Given the description of an element on the screen output the (x, y) to click on. 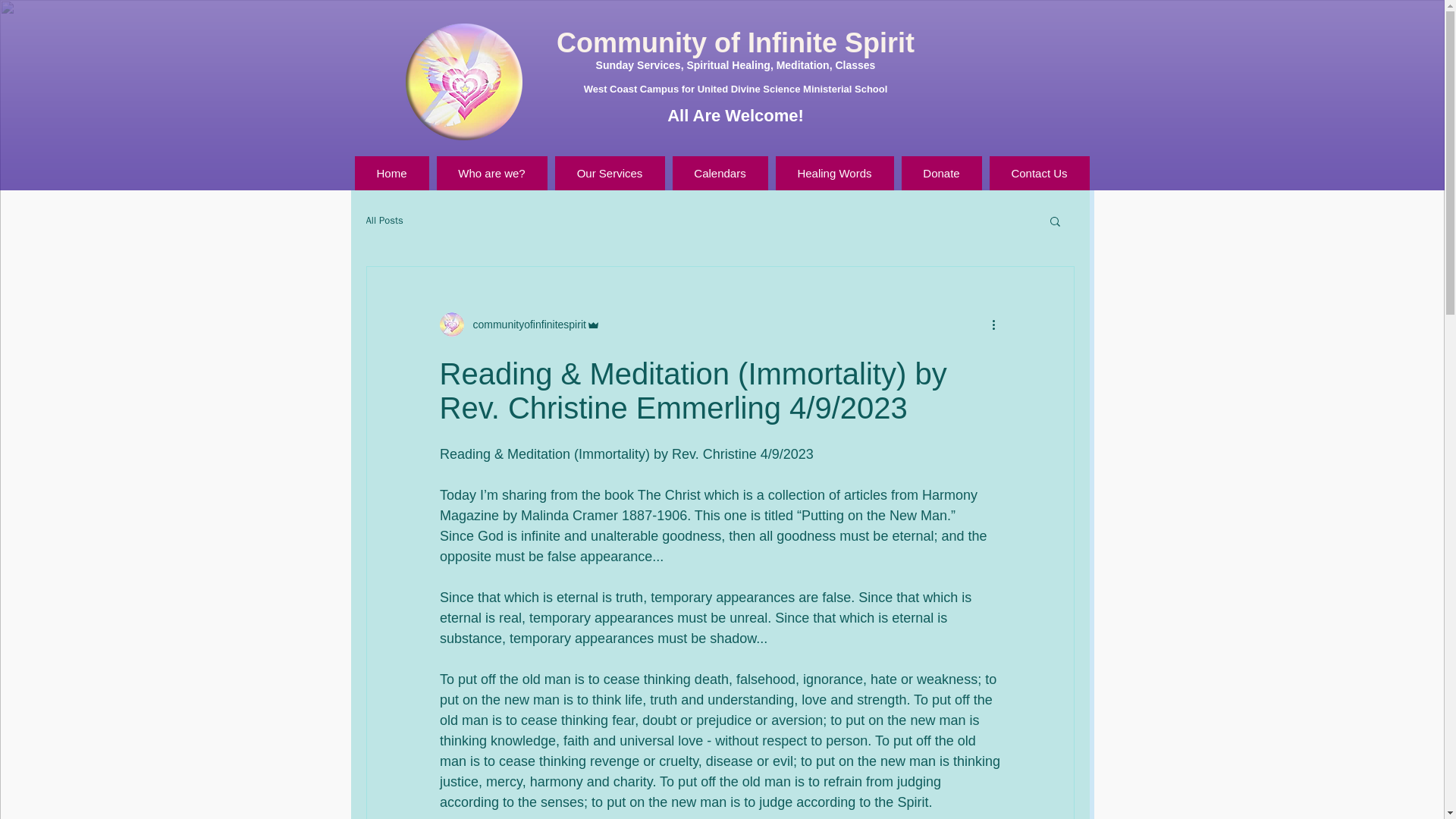
communityofinfinitespirit (525, 324)
Healing Words (833, 173)
Donate (941, 173)
Contact Us (1038, 173)
Home (392, 173)
Calendars (719, 173)
CIS Logo 2015-button-small.png (462, 81)
Our Services (609, 173)
Who are we? (491, 173)
All Posts (384, 220)
